Given the description of an element on the screen output the (x, y) to click on. 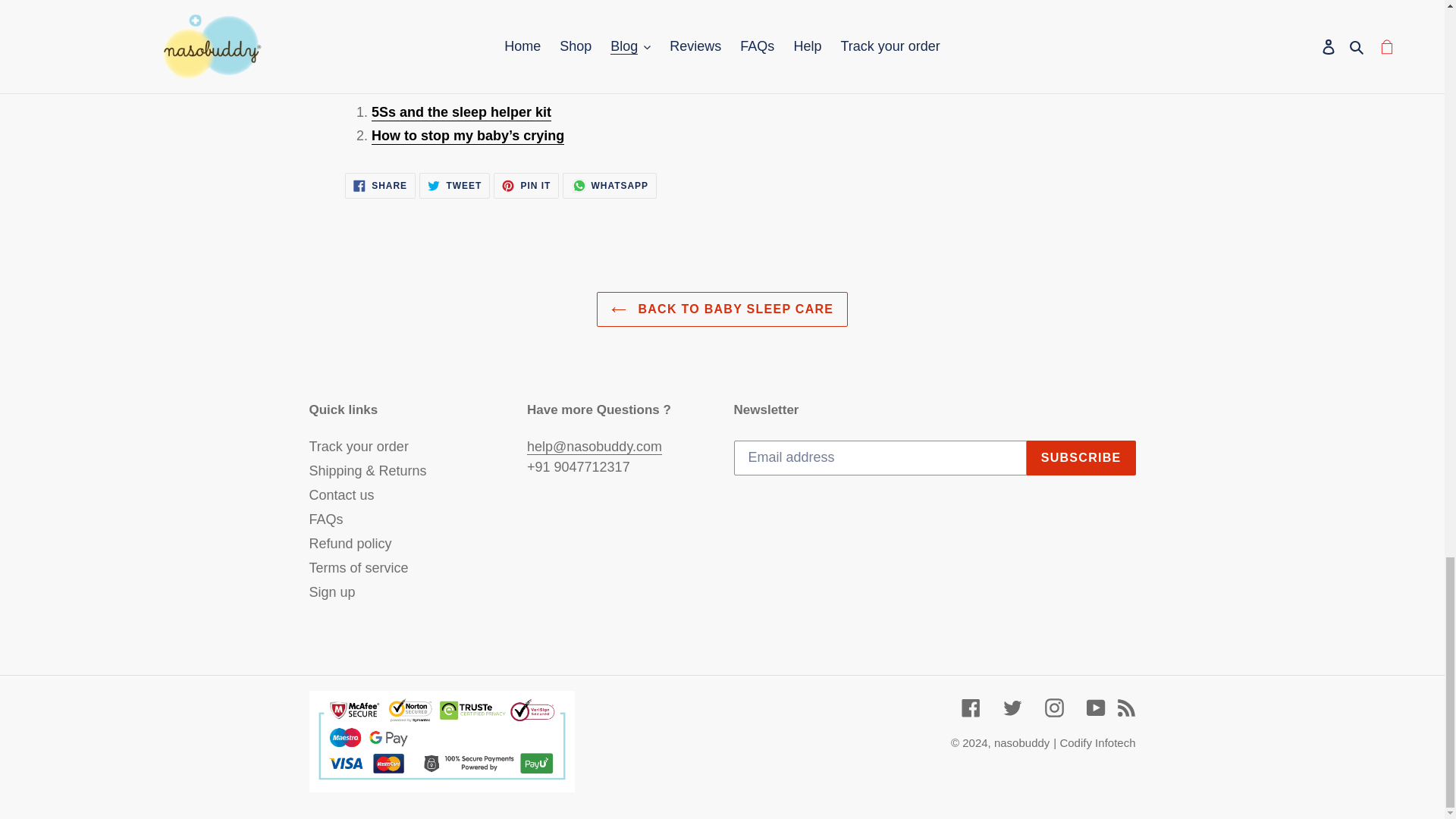
5Ss and the sleep helper kit (454, 185)
here (461, 112)
